Given the description of an element on the screen output the (x, y) to click on. 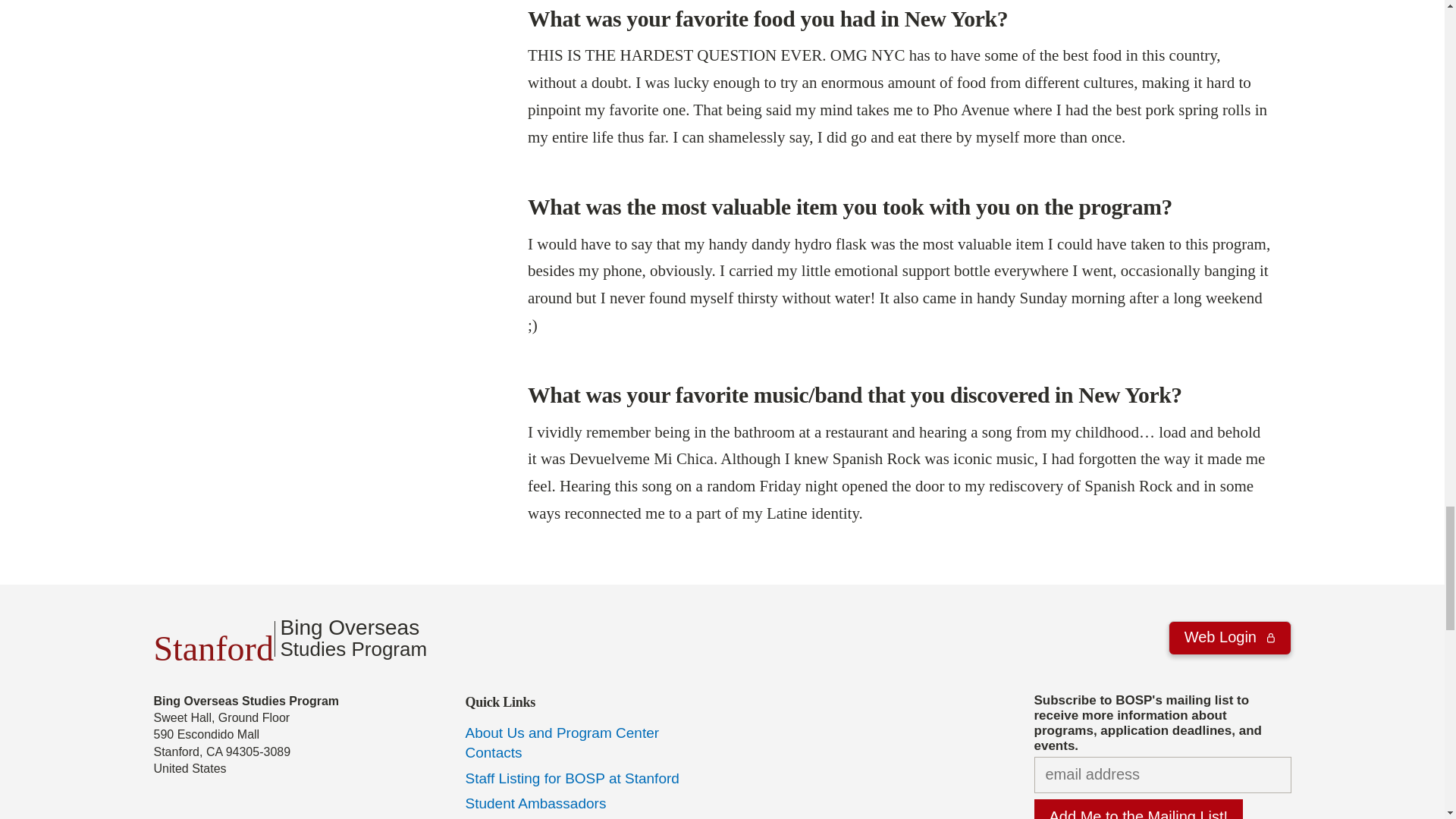
Add Me to the Mailing List! (1138, 809)
